Given the description of an element on the screen output the (x, y) to click on. 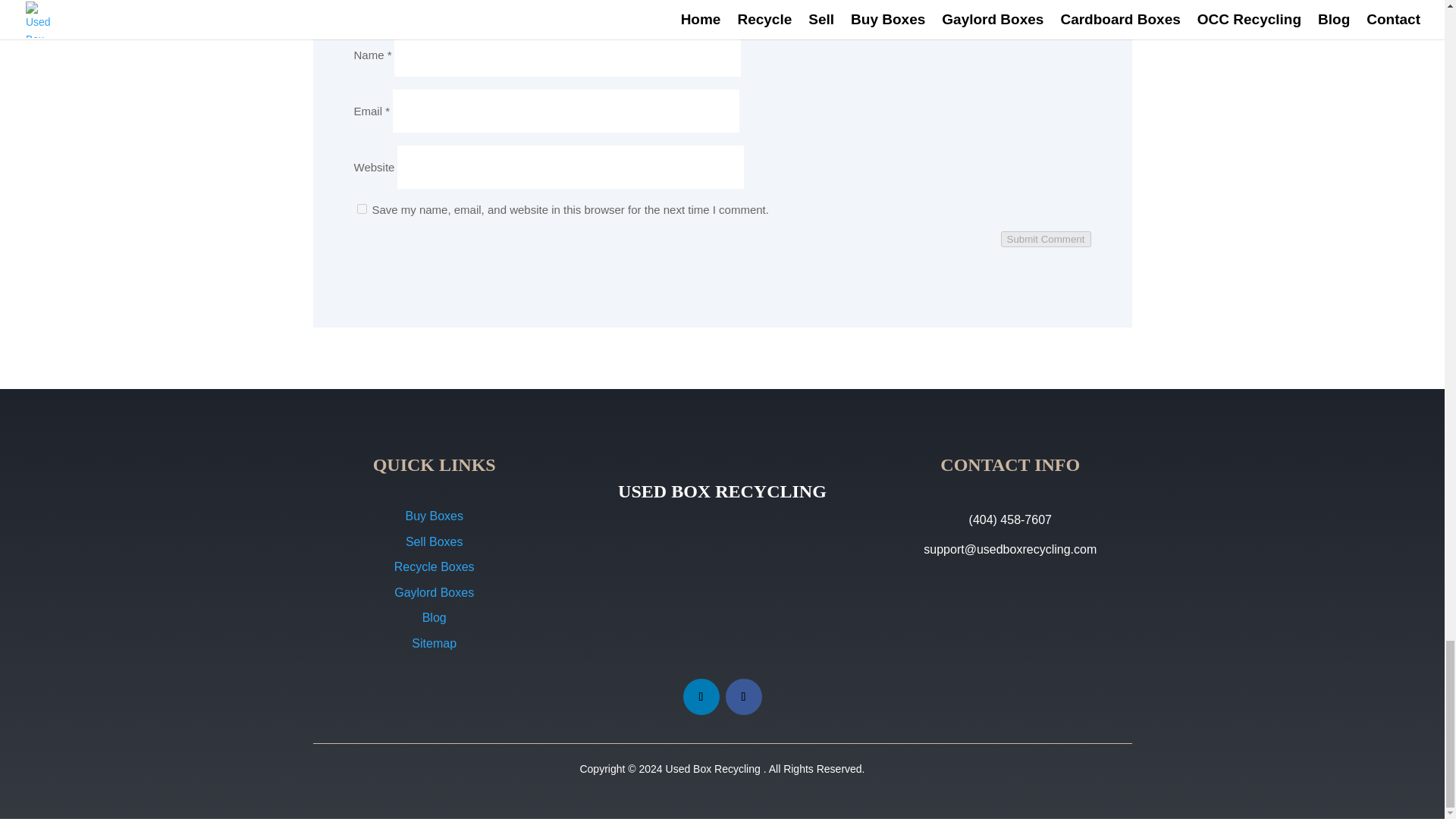
Buy Boxes (433, 515)
Submit Comment (1045, 238)
Follow on LinkedIn (700, 696)
Recycle Boxes (434, 566)
yes (361, 208)
Sitemap (434, 643)
Gaylord Boxes (434, 592)
Follow on Facebook (743, 696)
Blog (434, 617)
Sell Boxes (434, 541)
